Given the description of an element on the screen output the (x, y) to click on. 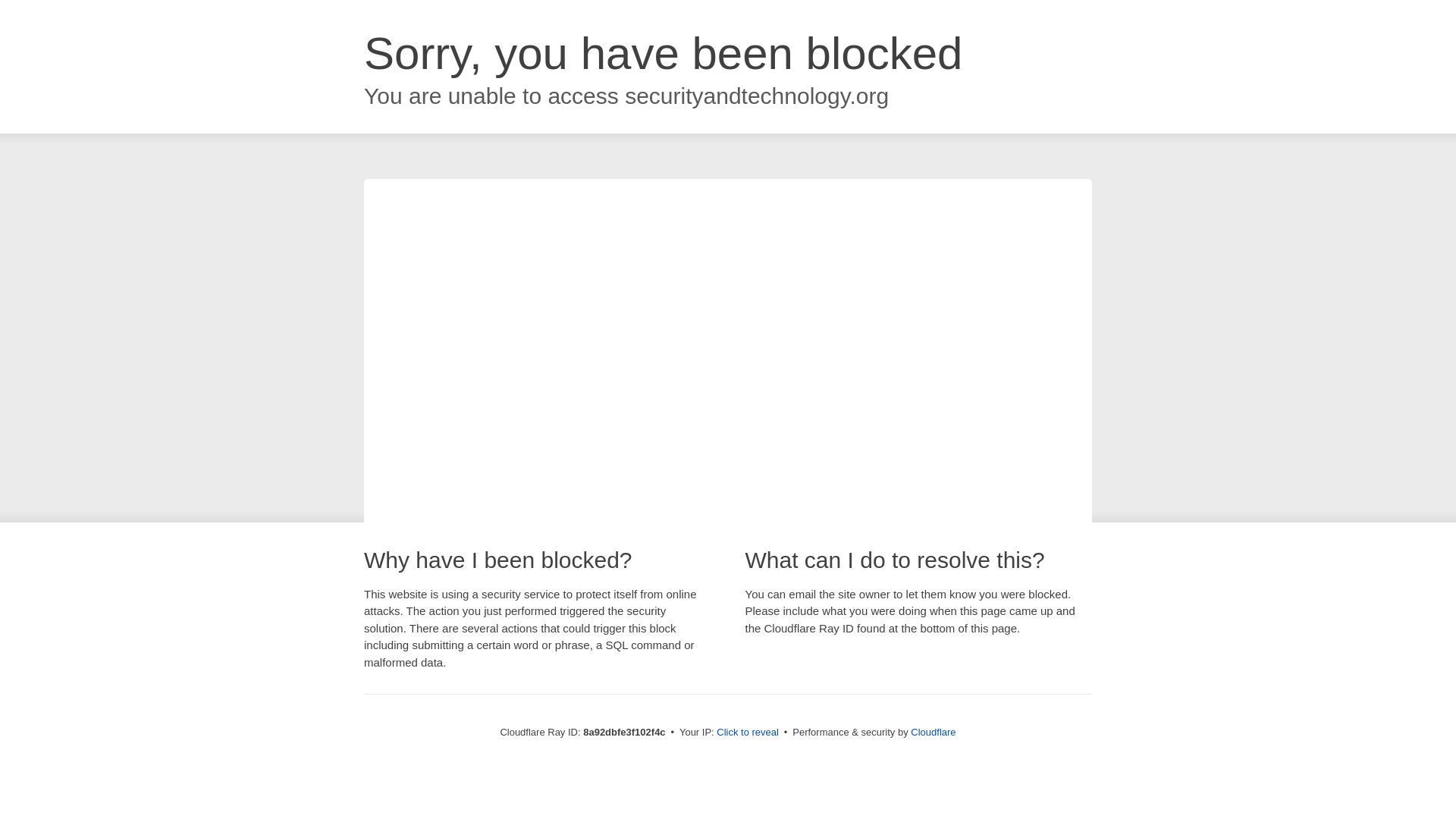
Cloudflare (933, 731)
Click to reveal (747, 732)
